Given the description of an element on the screen output the (x, y) to click on. 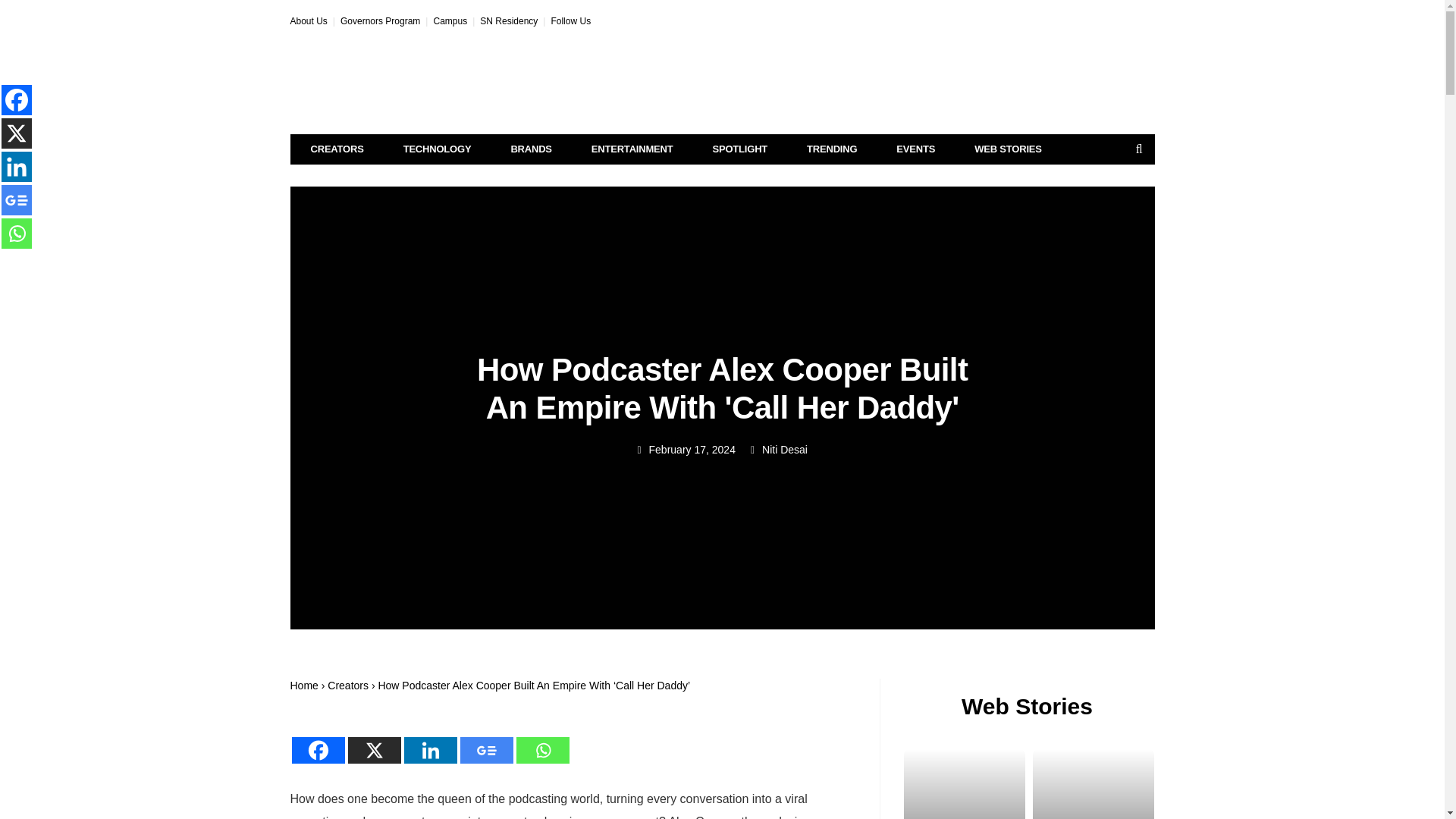
ENTERTAINMENT (632, 149)
TRENDING (831, 149)
Linkedin (430, 740)
TECHNOLOGY (438, 149)
SN Residency (508, 20)
Google News (486, 740)
CREATORS (337, 149)
Home (303, 685)
Creators (347, 685)
Governors Program (380, 20)
